Given the description of an element on the screen output the (x, y) to click on. 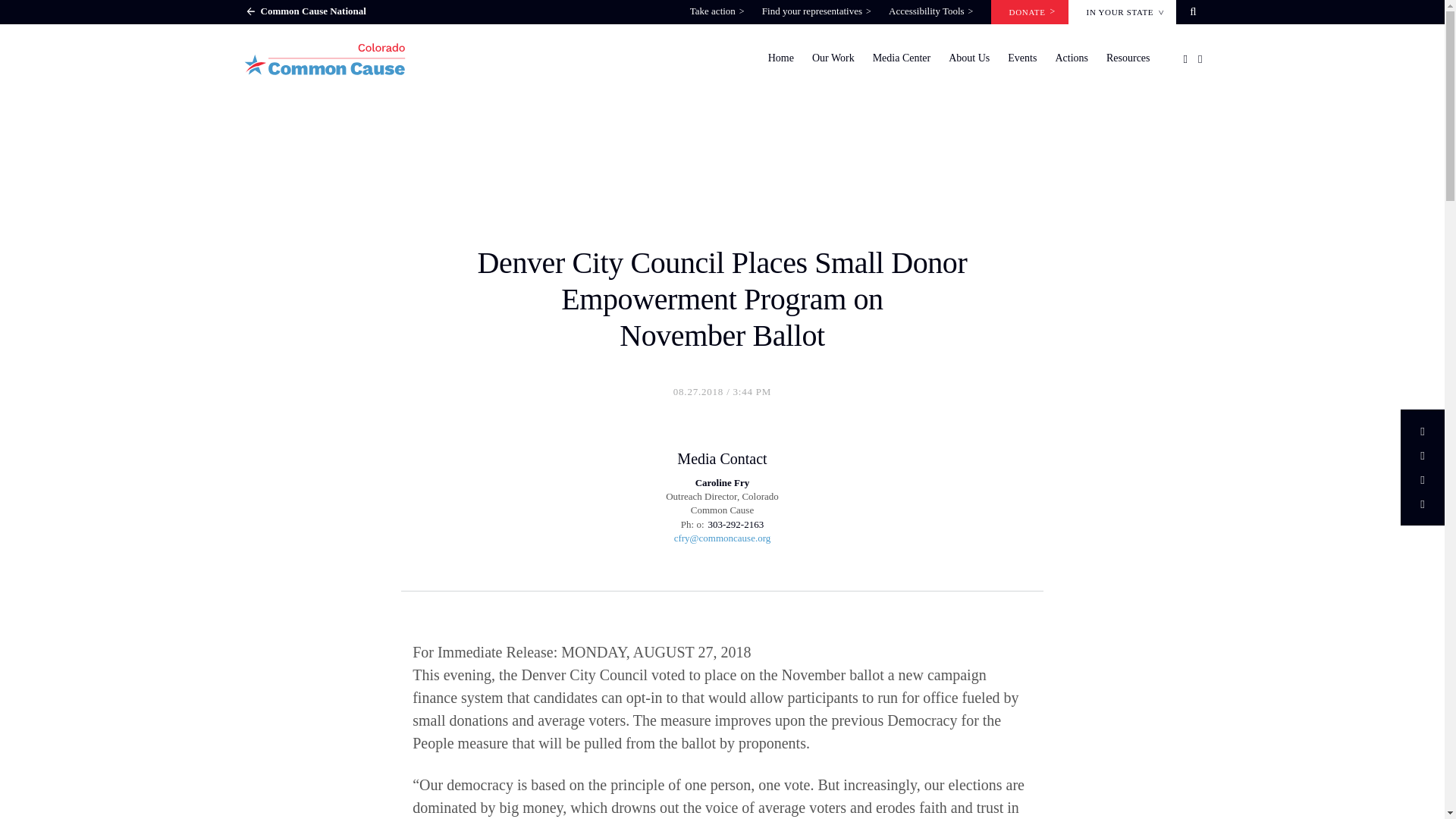
Print Page (1422, 503)
Press enter to search (785, 465)
